Given the description of an element on the screen output the (x, y) to click on. 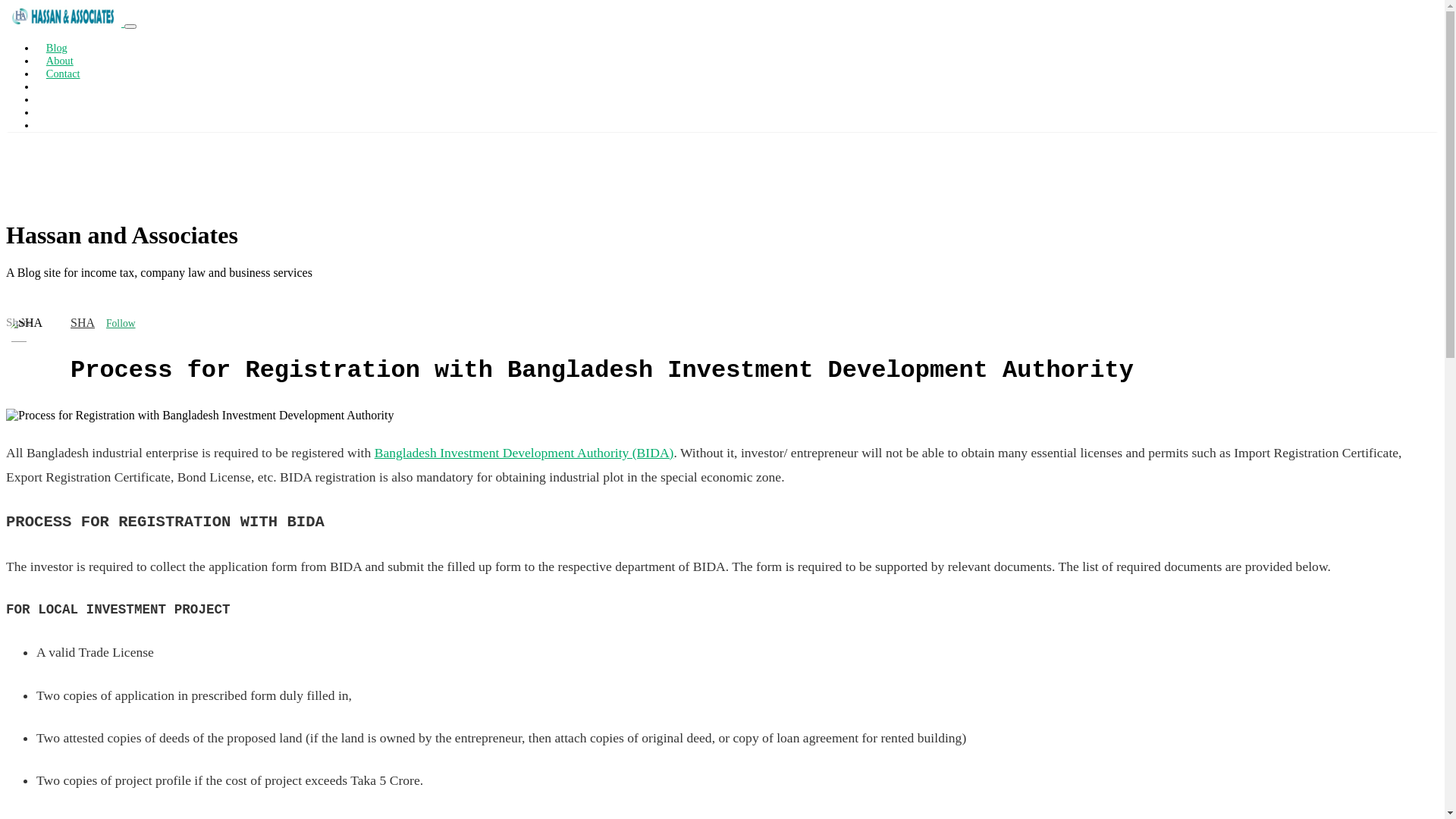
Contact Element type: text (62, 73)
SHA Element type: text (82, 322)
Blog Element type: text (56, 47)
About Element type: text (59, 60)
Follow Element type: text (120, 323)
Bangladesh Investment Development Authority (BIDA) Element type: text (524, 452)
